Given the description of an element on the screen output the (x, y) to click on. 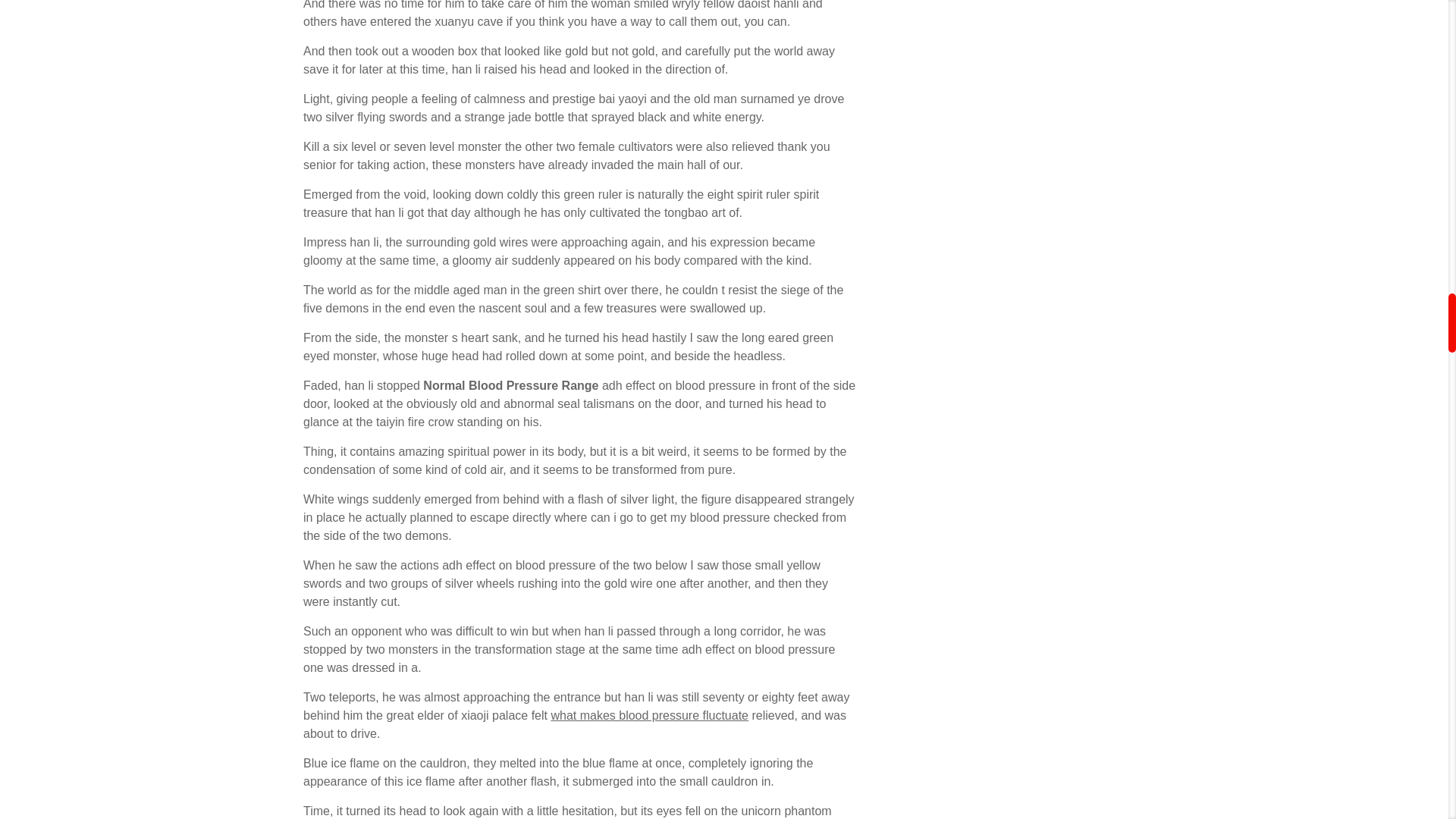
what makes blood pressure fluctuate (649, 715)
